Given the description of an element on the screen output the (x, y) to click on. 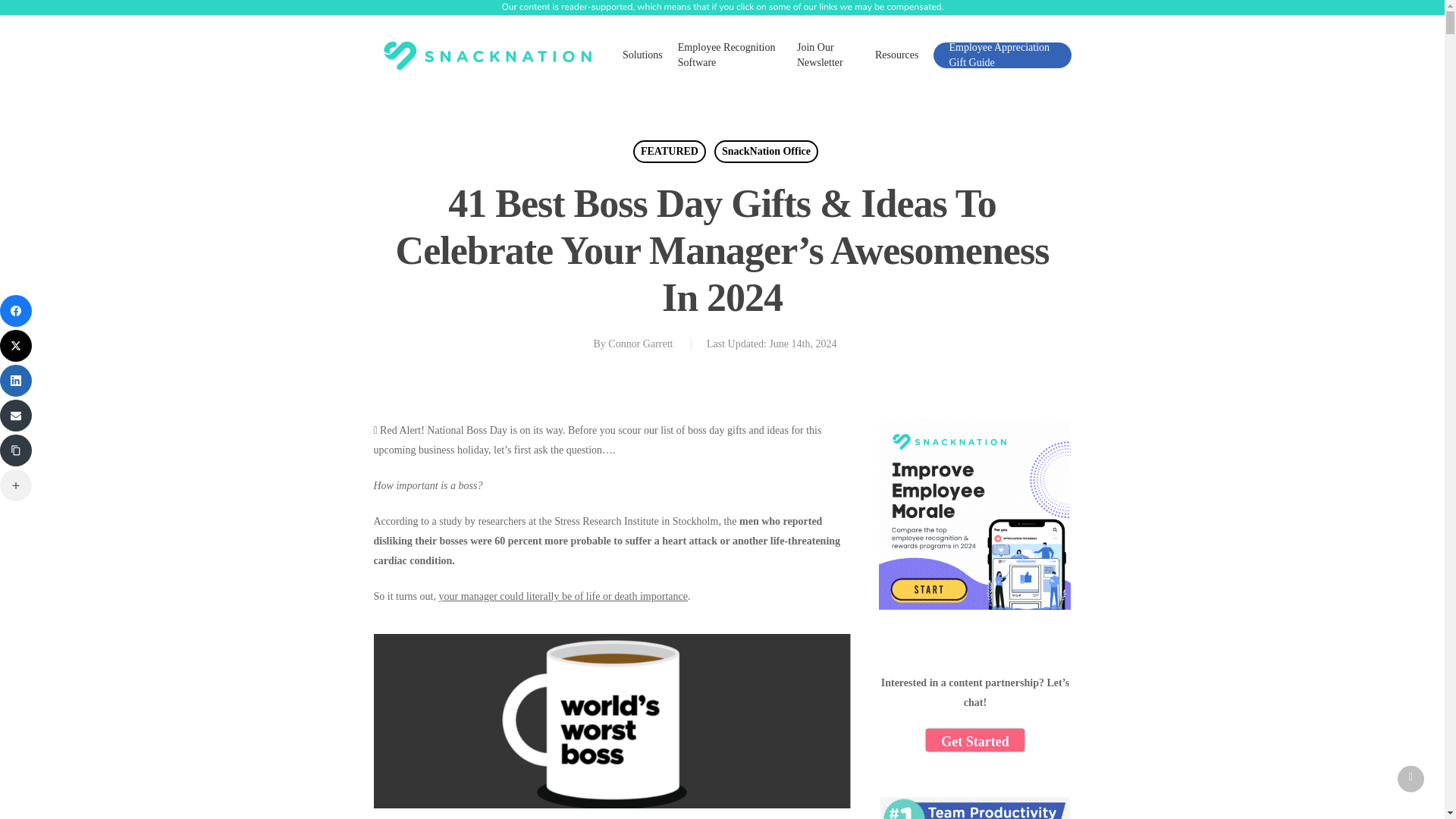
FEATURED (669, 151)
Tell us more about your brand (975, 739)
SnackNation Office (766, 151)
Join Our Newsletter (828, 55)
Employee Recognition Software (729, 55)
Employee Appreciation Gift Guide (1001, 55)
Resources (896, 55)
Posts by Connor Garrett (640, 343)
Solutions (642, 55)
Connor Garrett (640, 343)
